Given the description of an element on the screen output the (x, y) to click on. 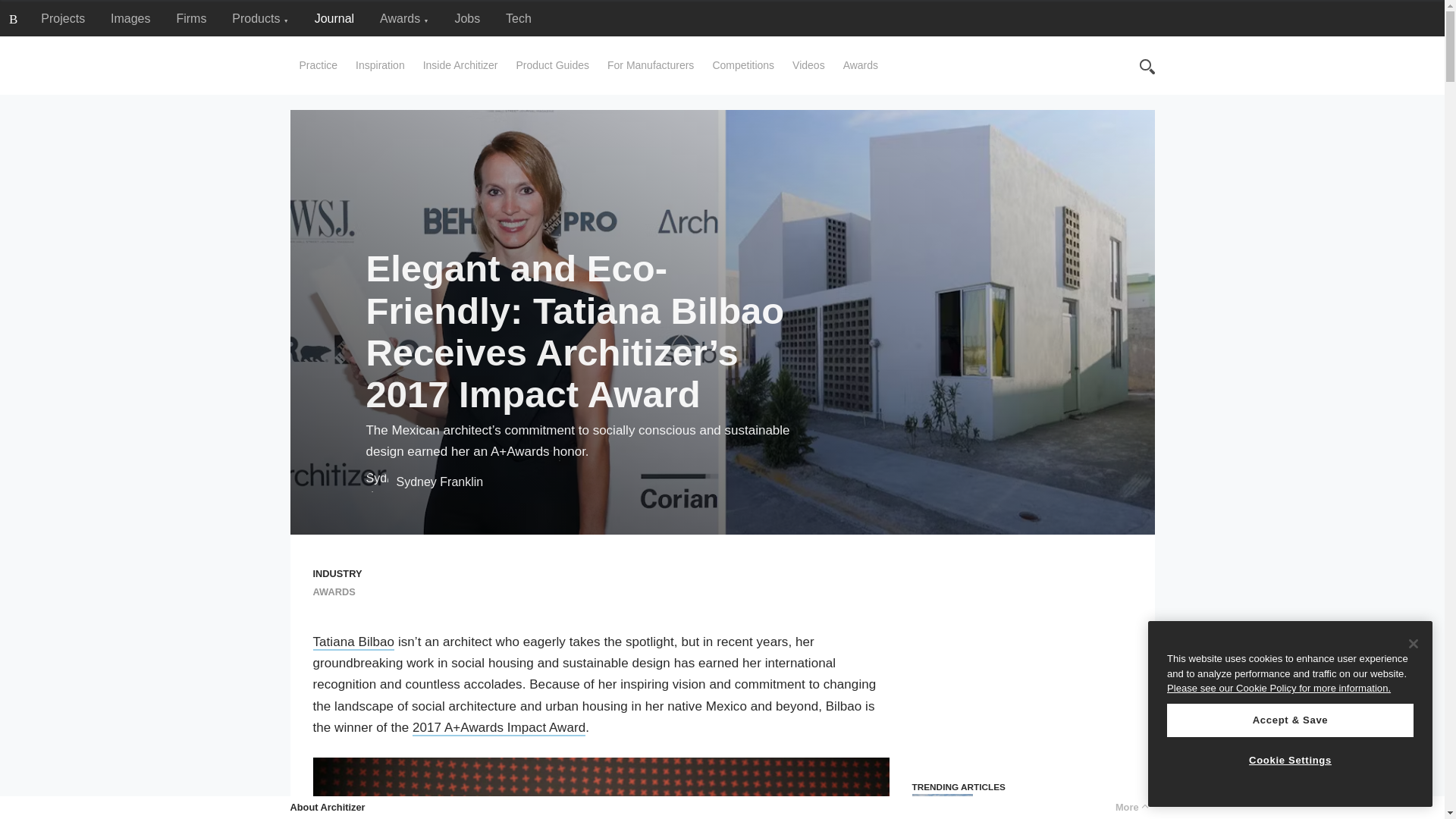
Tech (518, 18)
Videos (808, 65)
Journal (333, 18)
Practice (317, 65)
Jobs (467, 18)
Images (129, 18)
Competitions (743, 65)
Product Guides (552, 65)
For Manufacturers (650, 65)
Firms (191, 18)
